Given the description of an element on the screen output the (x, y) to click on. 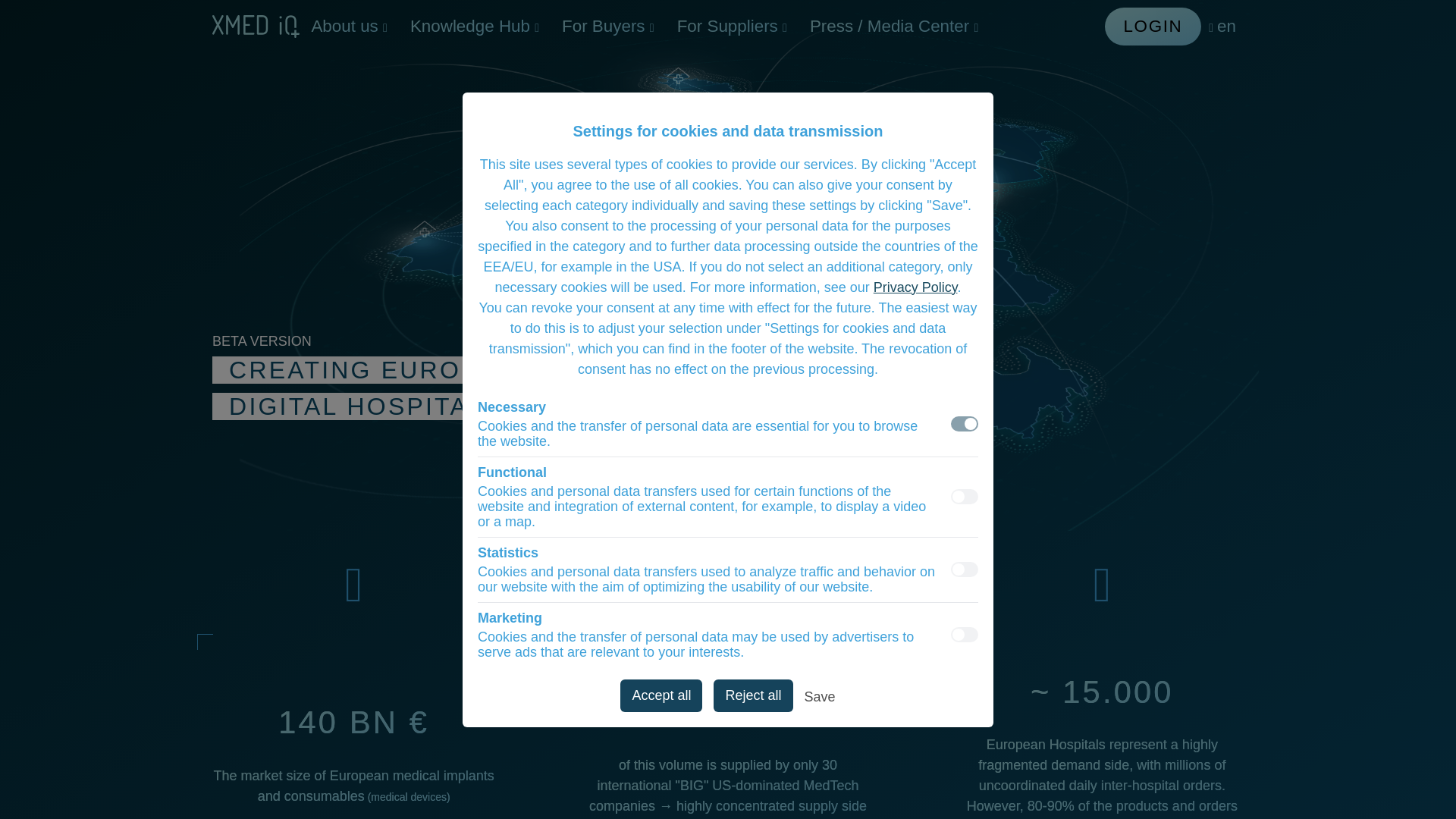
on (964, 634)
on (964, 569)
on (964, 423)
Save (820, 699)
For Buyers (607, 26)
Knowledge Hub (474, 26)
About us (348, 26)
LOGIN (1153, 26)
Privacy Policy (915, 286)
Accept all (660, 695)
